Given the description of an element on the screen output the (x, y) to click on. 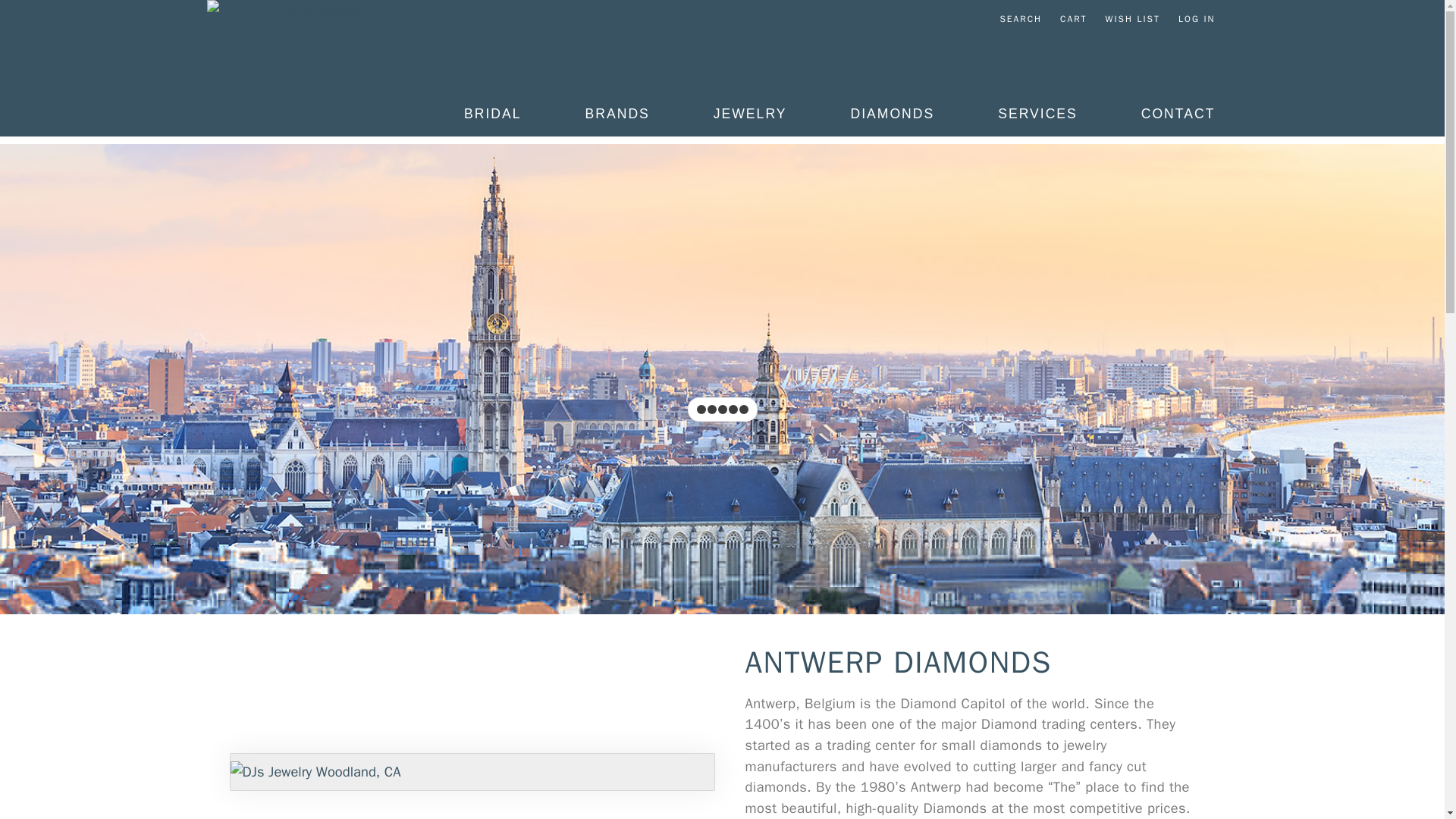
Skip to main content (7, 3)
JEWELRY (1131, 18)
BRIDAL (1072, 18)
BRANDS (750, 117)
